Given the description of an element on the screen output the (x, y) to click on. 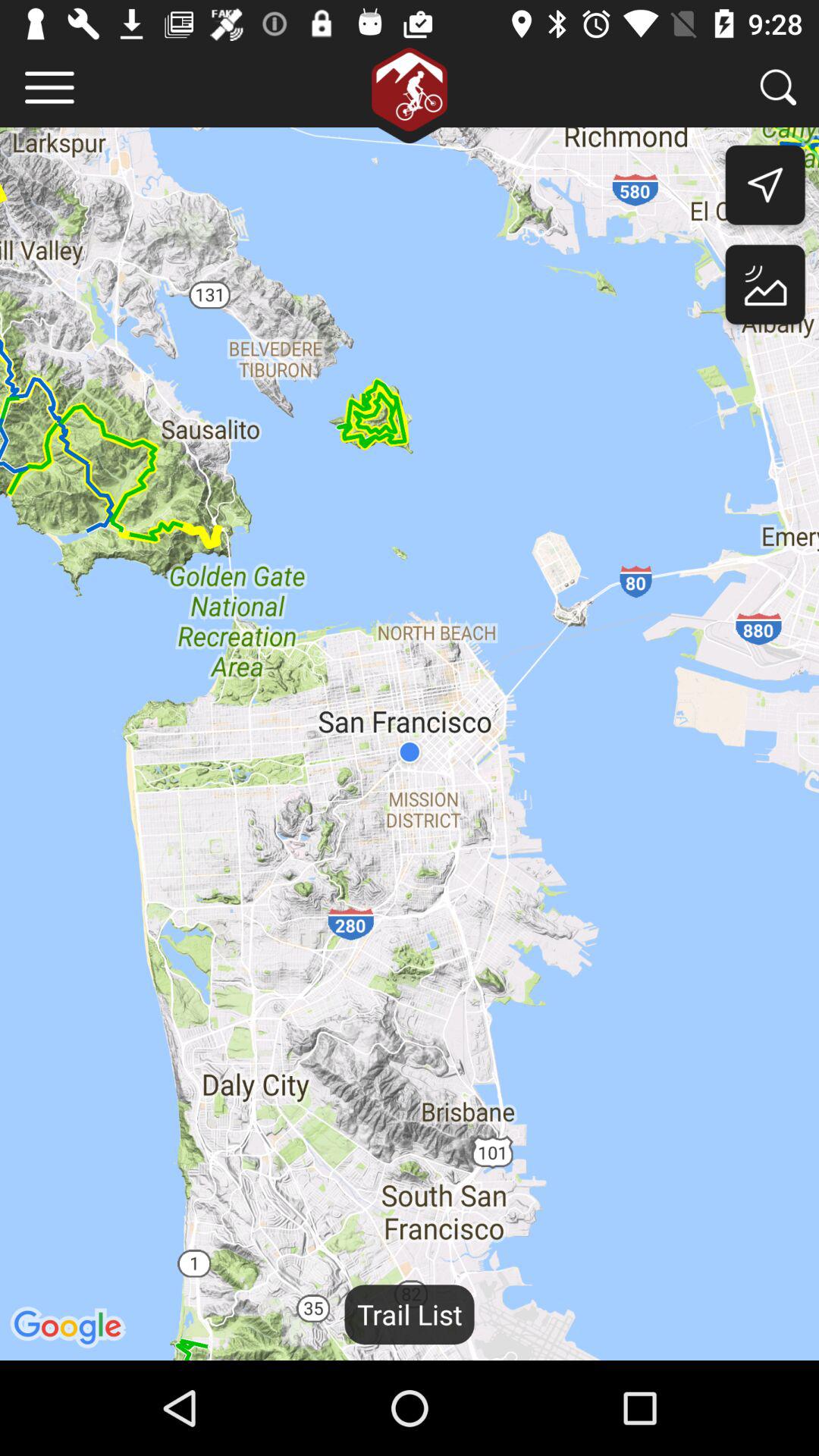
menu (49, 87)
